Given the description of an element on the screen output the (x, y) to click on. 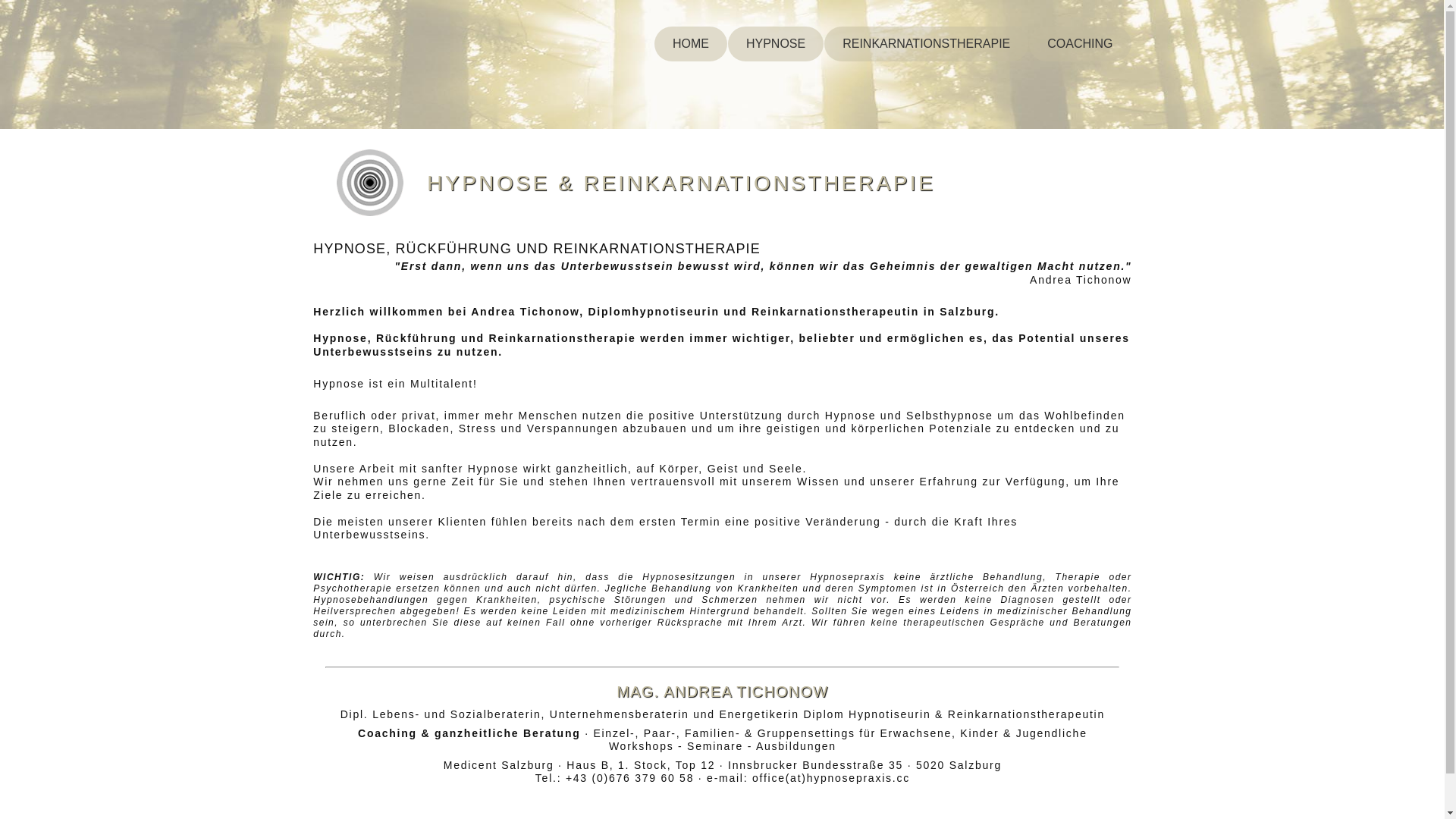
COACHING Element type: text (1079, 43)
REINKARNATIONSTHERAPIE Element type: text (926, 43)
HOME Element type: text (690, 43)
HYPNOSE Element type: text (775, 43)
